Given the description of an element on the screen output the (x, y) to click on. 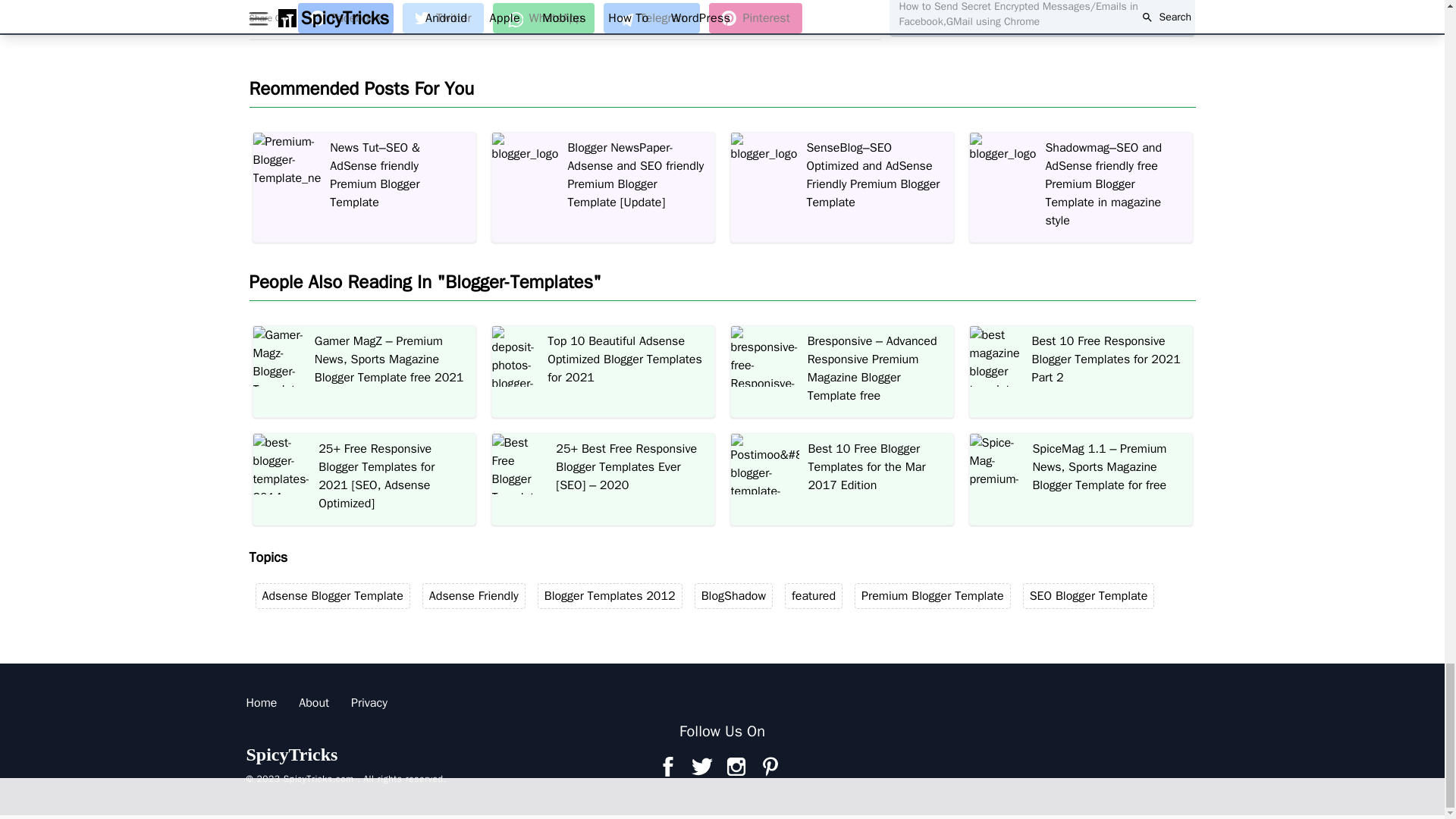
Share on Pinterest (755, 18)
Facebook (345, 18)
Share on Twitter (443, 18)
Share on Telegram (652, 18)
Share on Facebook (345, 18)
Twitter (443, 18)
Pinterest (755, 18)
WhatsApp (543, 18)
Share on WhatsApp (543, 18)
Telegram (652, 18)
